Given the description of an element on the screen output the (x, y) to click on. 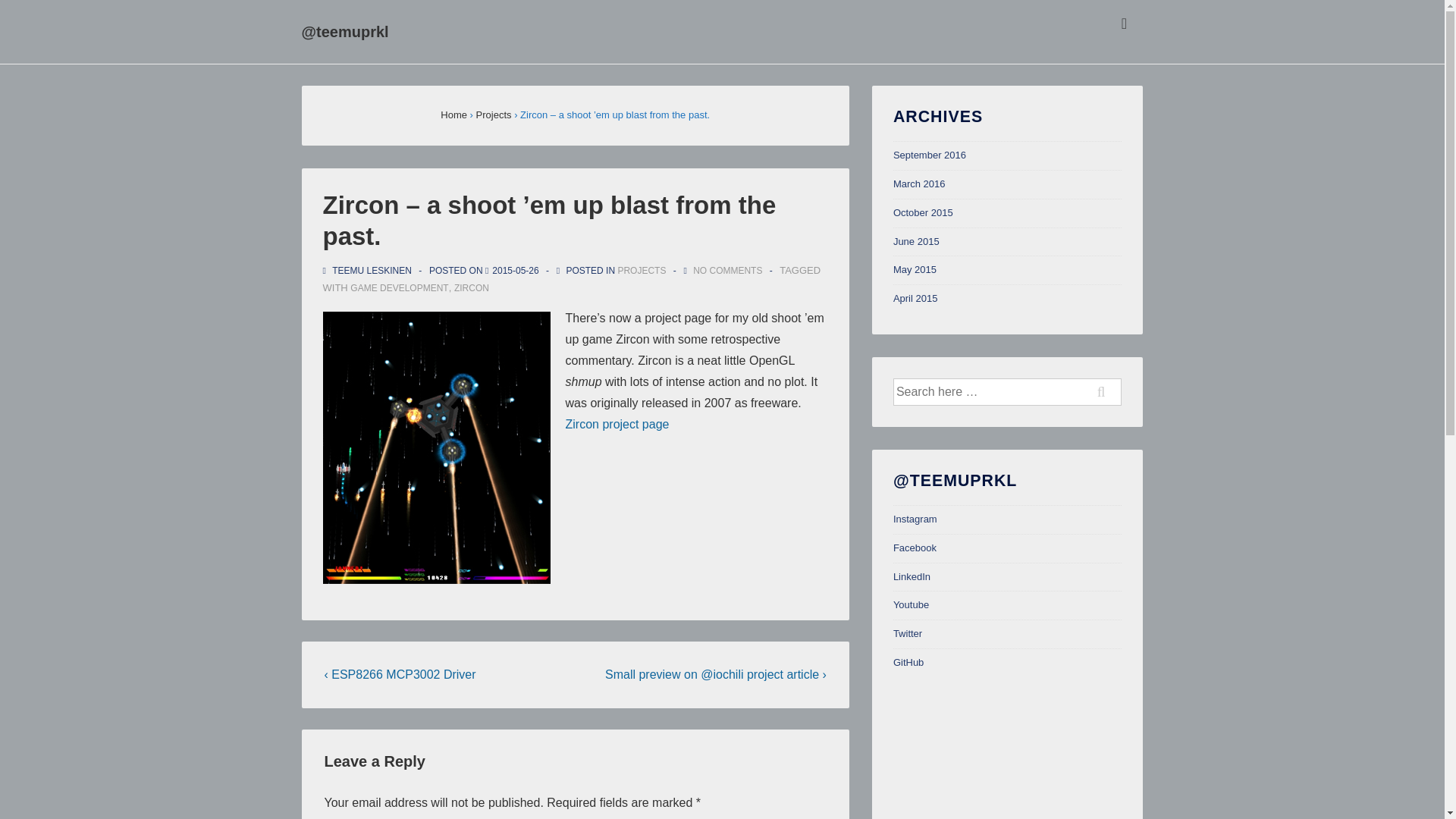
September 2016 (929, 154)
View all posts by Teemu Leskinen (368, 270)
Twitter (907, 633)
June 2015 (916, 241)
Advertisement (1006, 748)
GAME DEVELOPMENT (399, 287)
March 2016 (918, 183)
MENU (1123, 23)
TEEMU LESKINEN (368, 270)
PROJECTS (641, 270)
Zircon project page (617, 423)
April 2015 (915, 297)
Home (454, 114)
GitHub (908, 662)
ZIRCON (471, 287)
